Given the description of an element on the screen output the (x, y) to click on. 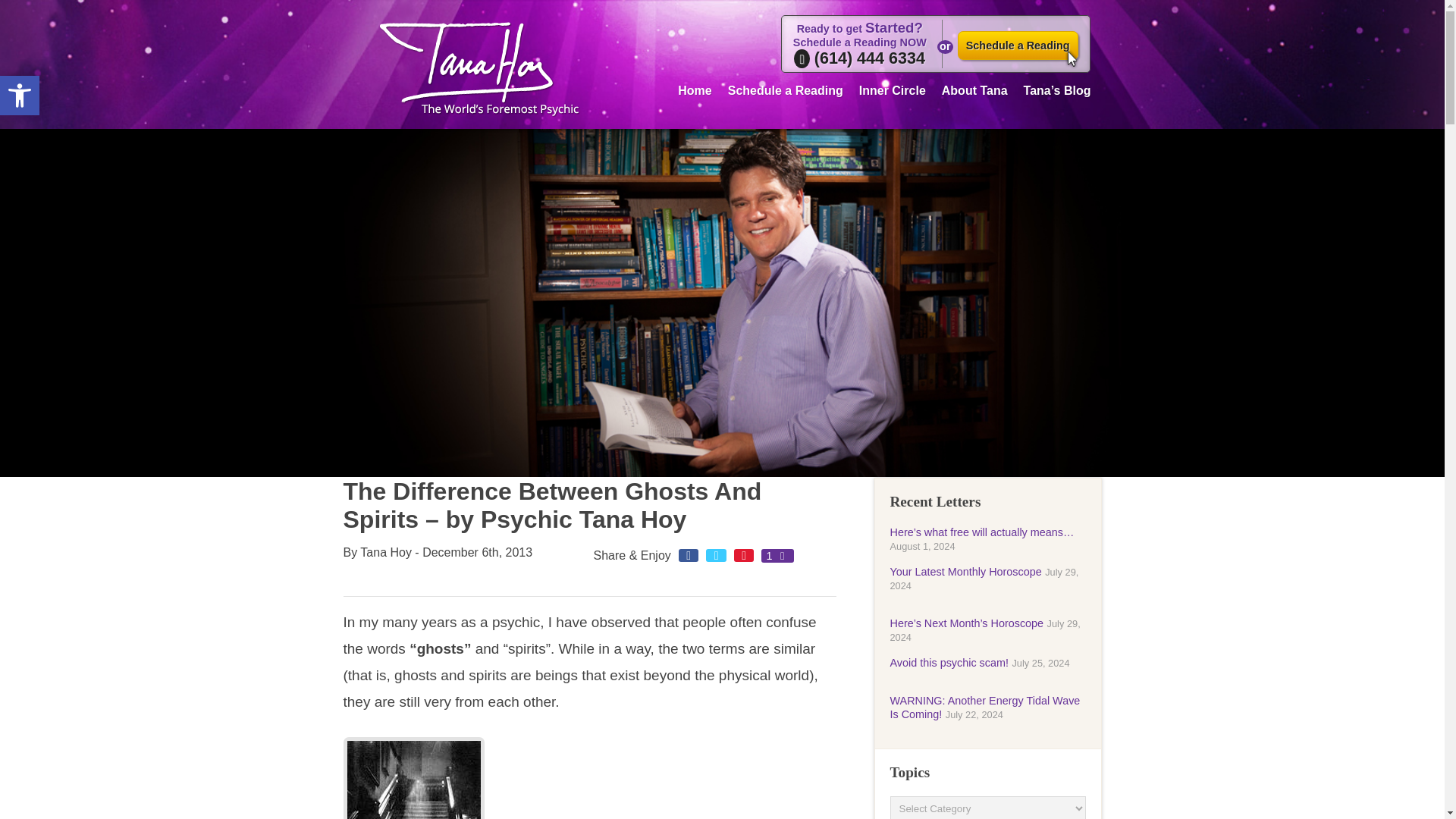
Accessibility Tools (19, 95)
Avoid this psychic scam! (949, 662)
Inner Circle (892, 87)
About Tana (974, 87)
Schedule a Reading (785, 87)
1 (777, 555)
WARNING: Another Energy Tidal Wave Is Coming! (19, 95)
Schedule a Reading (984, 707)
Your Latest Monthly Horoscope (1018, 45)
Home (965, 571)
Accessibility Tools (694, 87)
